Given the description of an element on the screen output the (x, y) to click on. 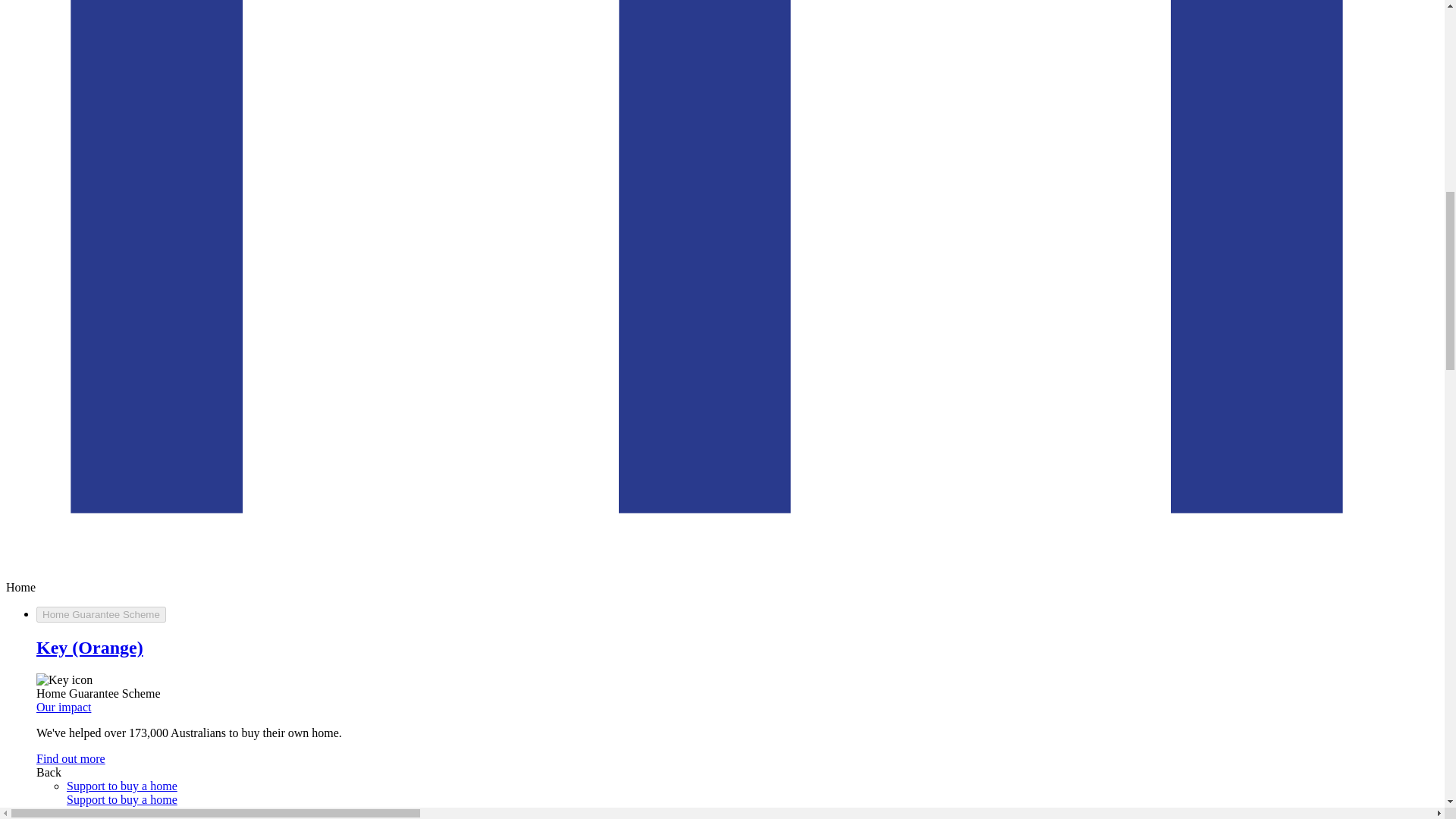
Support to buy a home (121, 799)
Support to buy a home (121, 785)
Home Guarantee Scheme (100, 614)
Our impact (63, 707)
Find out more (70, 758)
